Given the description of an element on the screen output the (x, y) to click on. 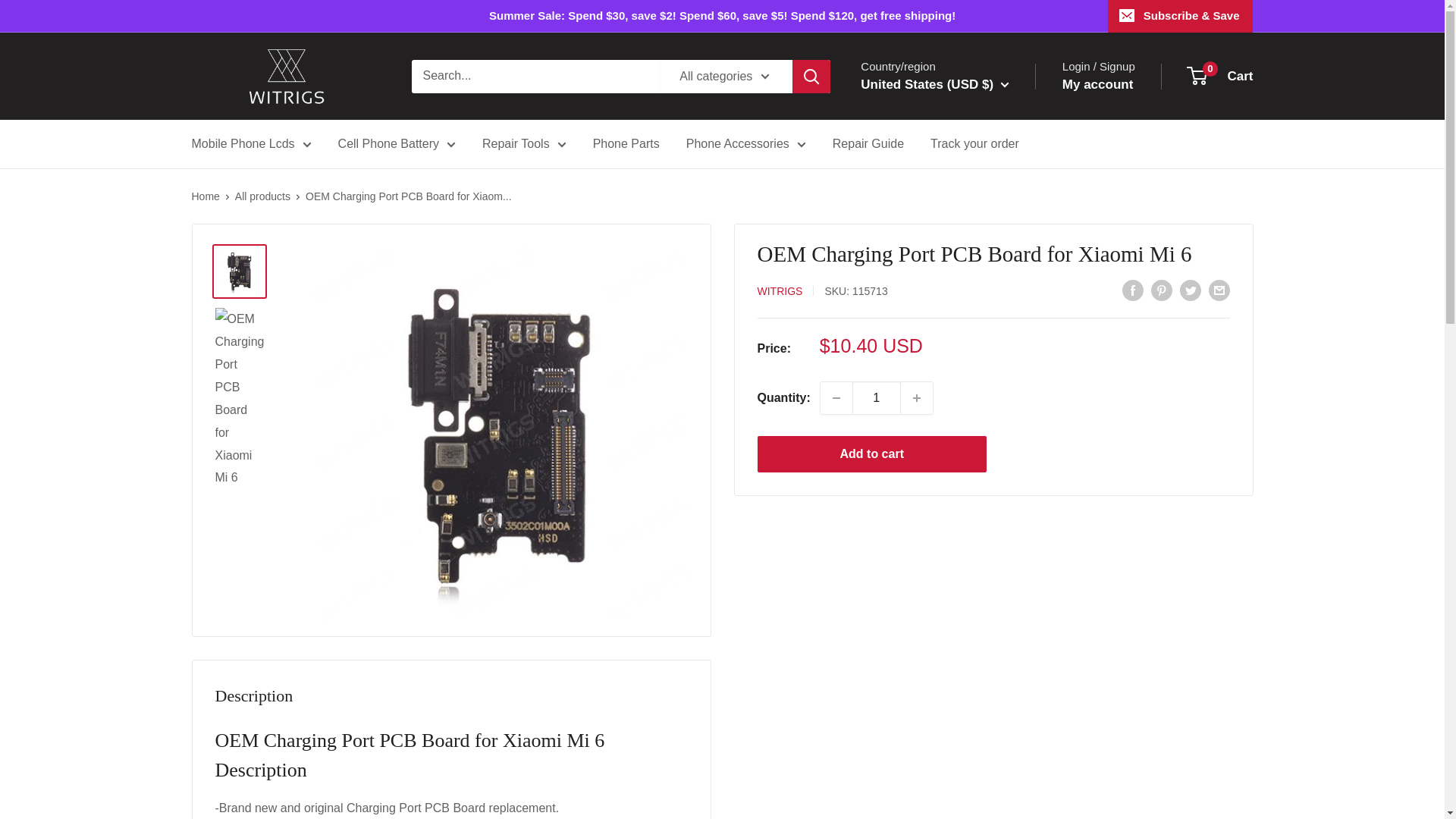
Decrease quantity by 1 (836, 398)
Increase quantity by 1 (917, 398)
1 (876, 398)
